Given the description of an element on the screen output the (x, y) to click on. 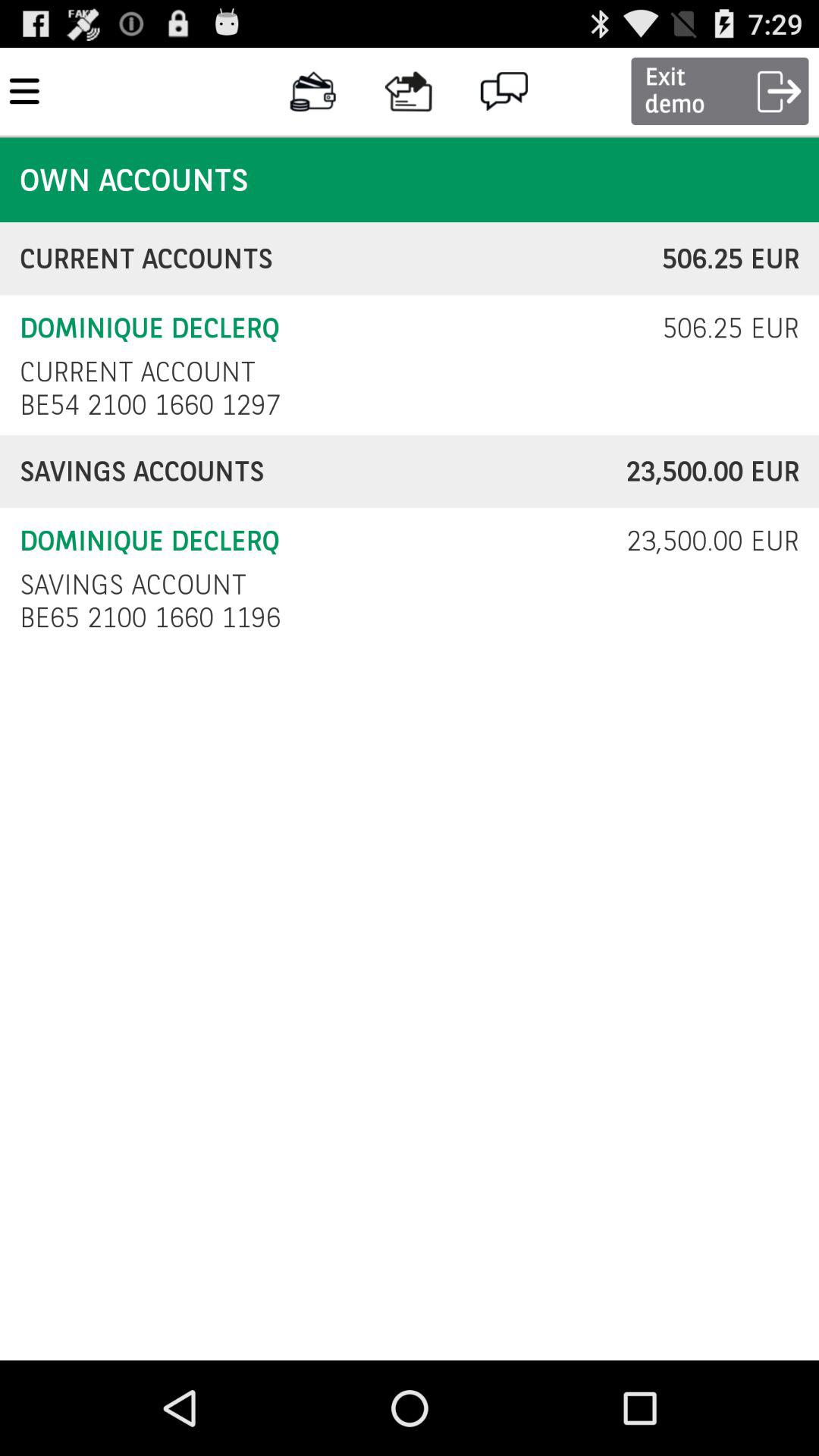
select the item above the be54 2100 1660 icon (137, 371)
